Given the description of an element on the screen output the (x, y) to click on. 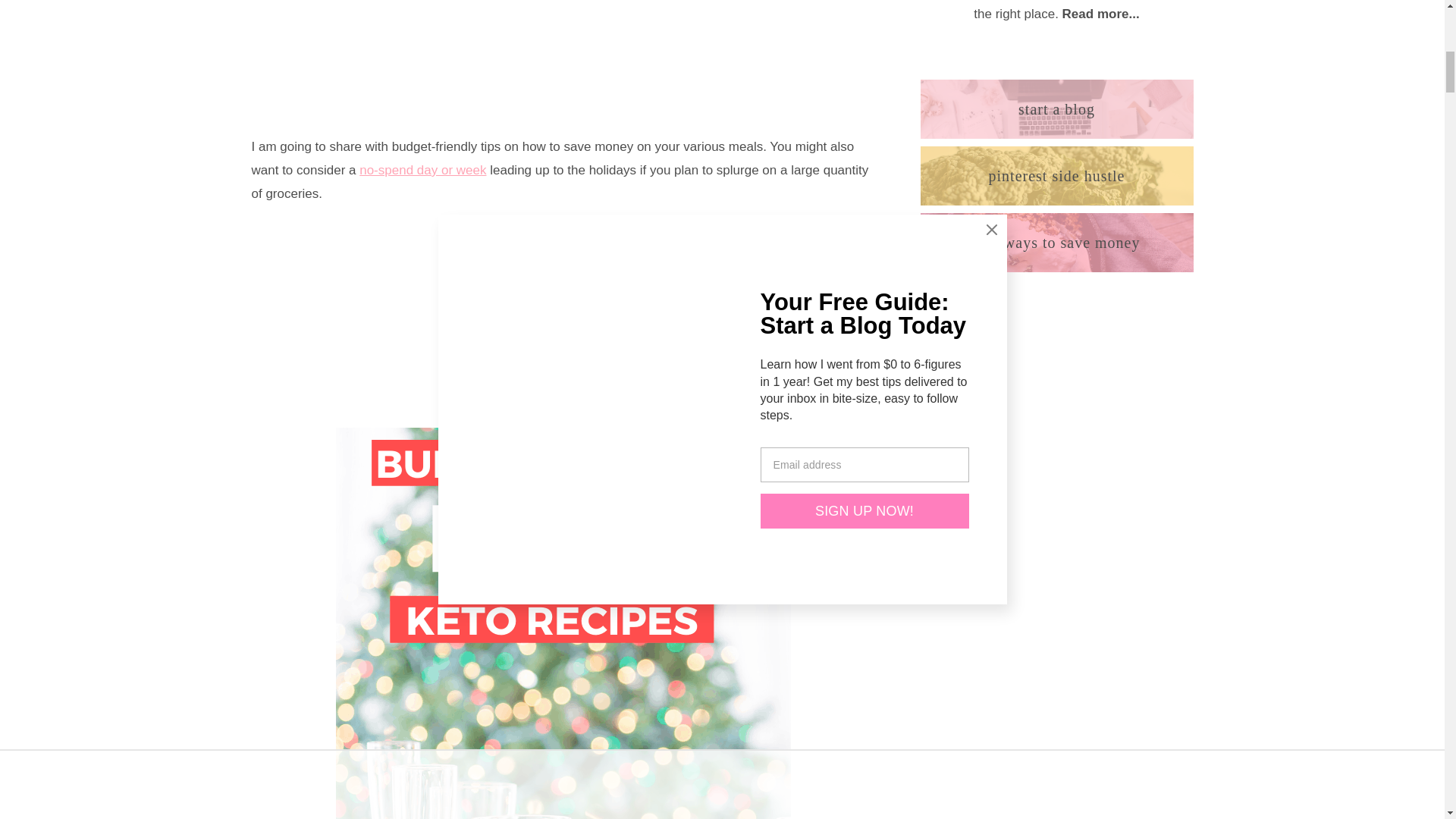
no-spend day or week (422, 169)
